Given the description of an element on the screen output the (x, y) to click on. 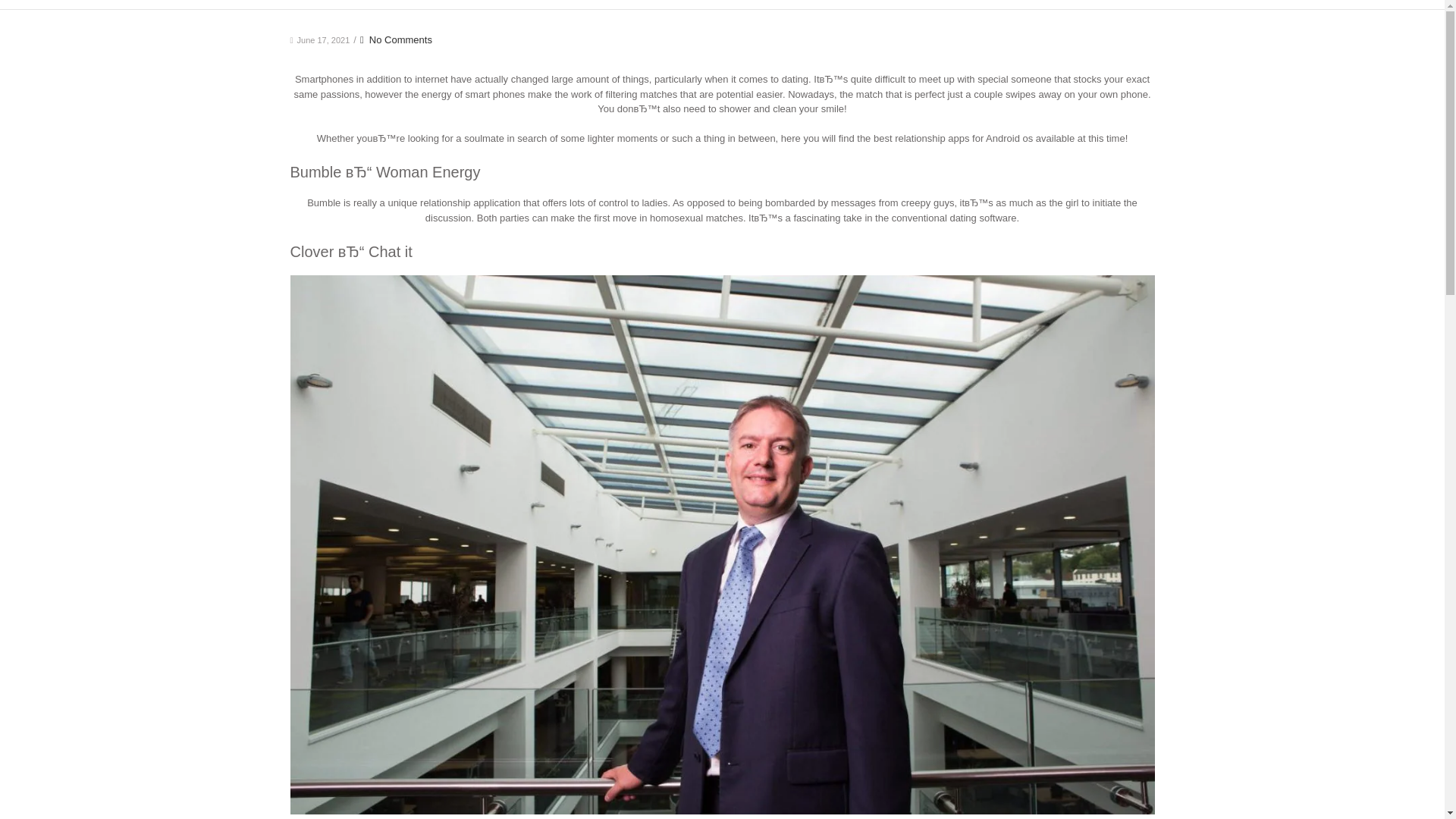
  No Comments (395, 39)
